Given the description of an element on the screen output the (x, y) to click on. 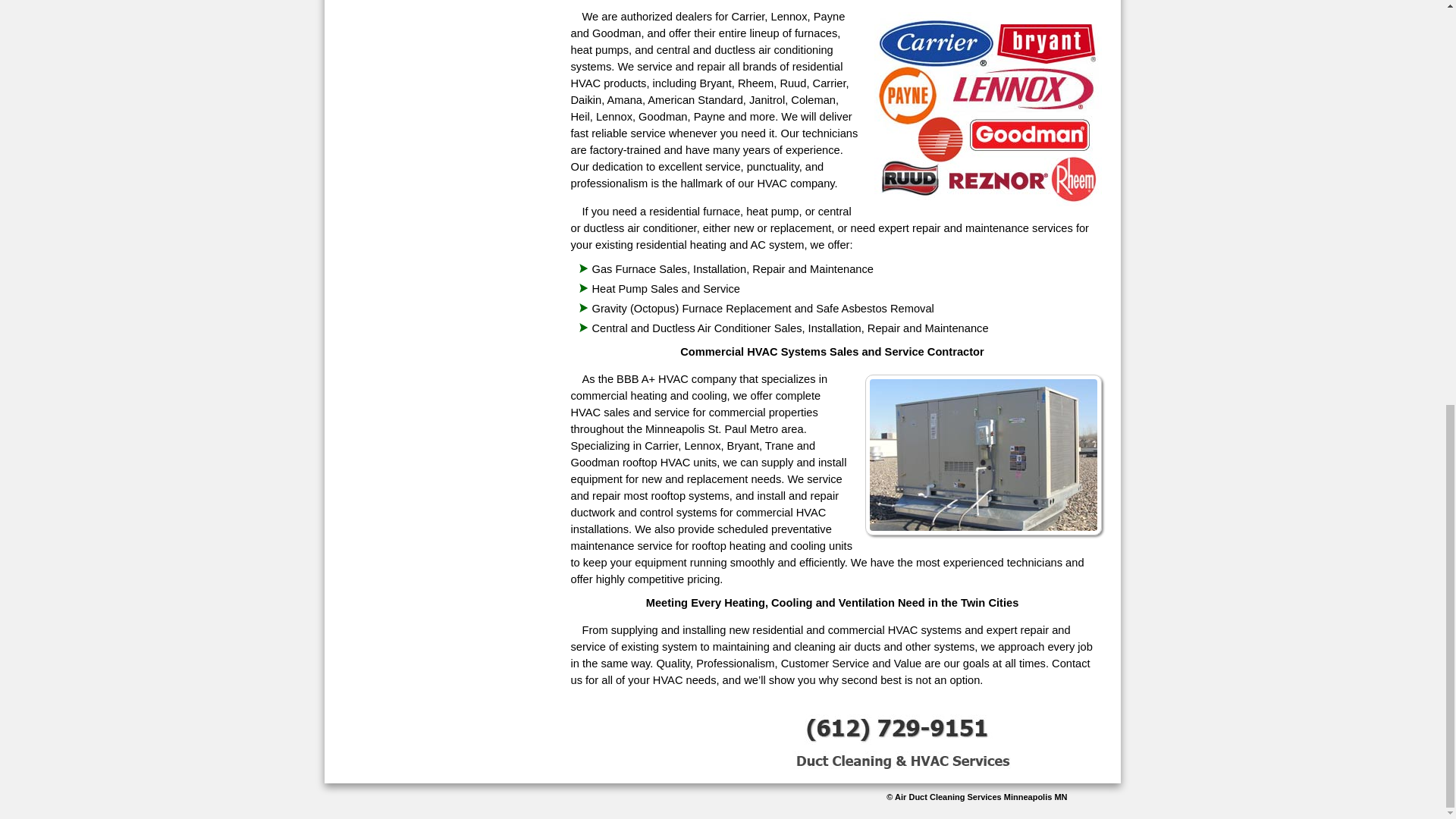
Air Duct Cleaning Services Minneapolis MN (981, 796)
